Given the description of an element on the screen output the (x, y) to click on. 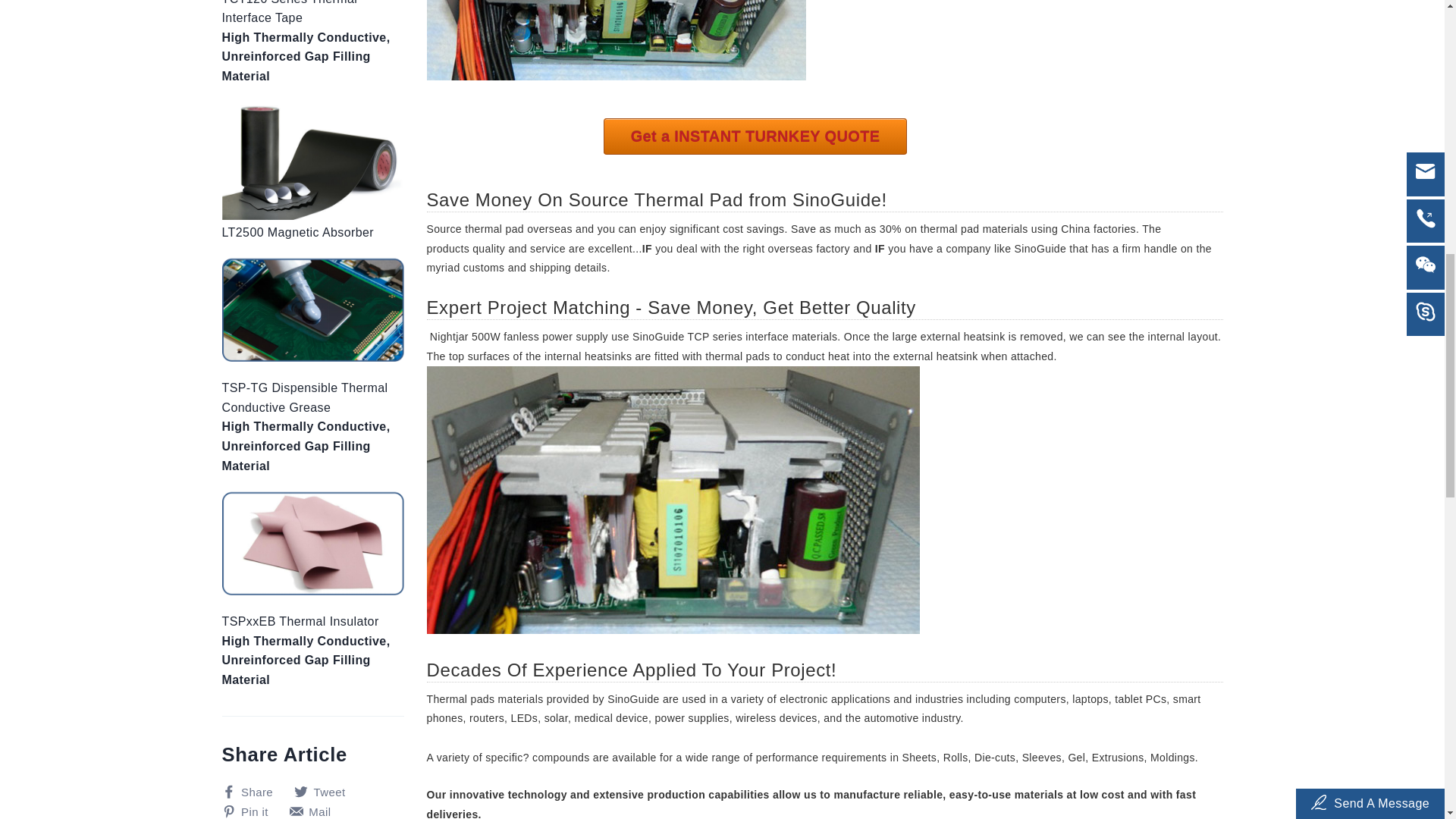
Pin on Pinterest (315, 810)
Pin on Pinterest (250, 810)
Tweet on Twitter (325, 791)
Share on Facebook (252, 791)
Get a TURNKEY Quote (755, 135)
